Given the description of an element on the screen output the (x, y) to click on. 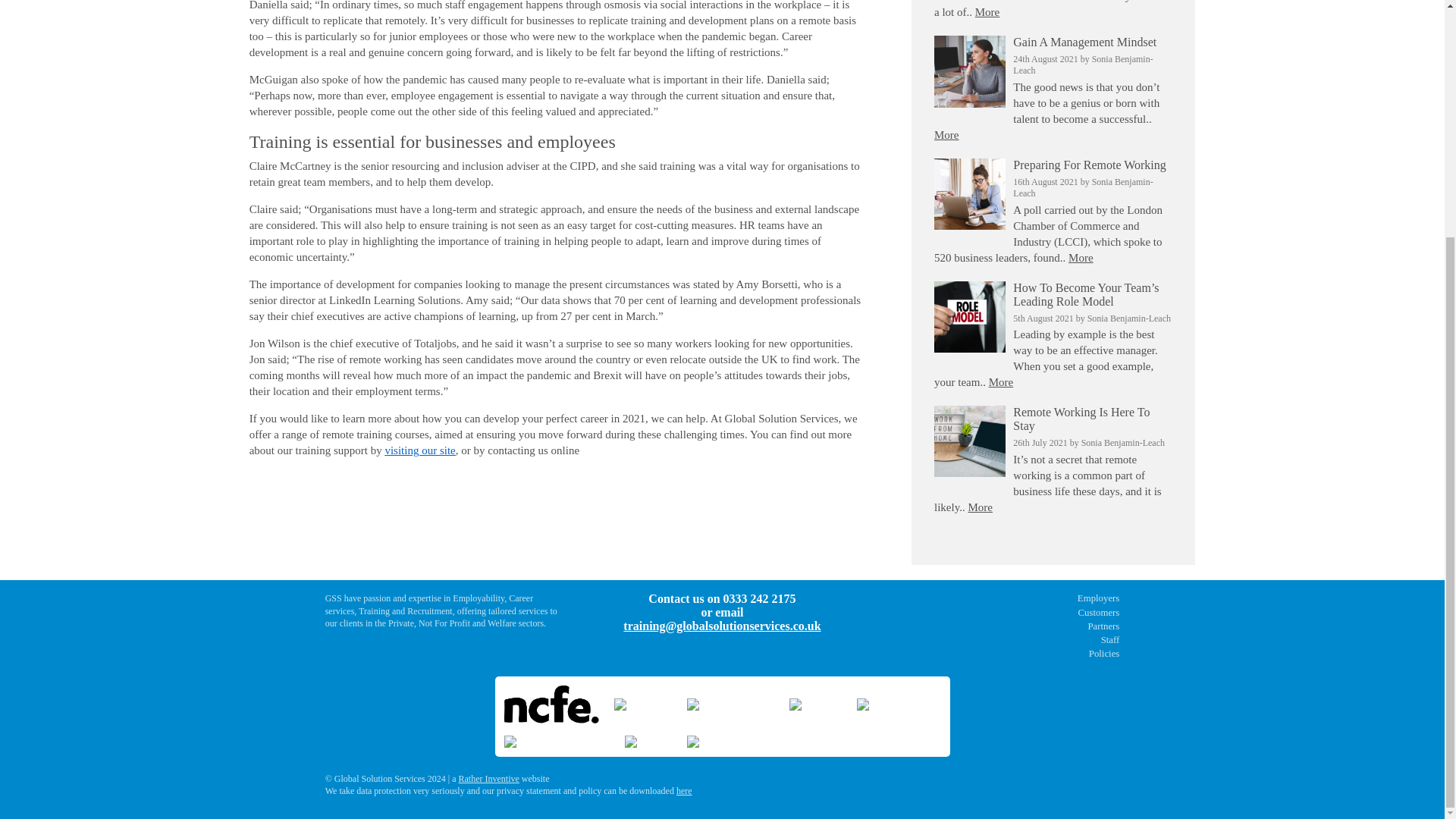
Rather Inventive (488, 778)
Employers (999, 599)
Customers (999, 612)
Policies (999, 653)
here (685, 790)
Partners (999, 626)
visiting our site (419, 450)
Staff (999, 640)
